Given the description of an element on the screen output the (x, y) to click on. 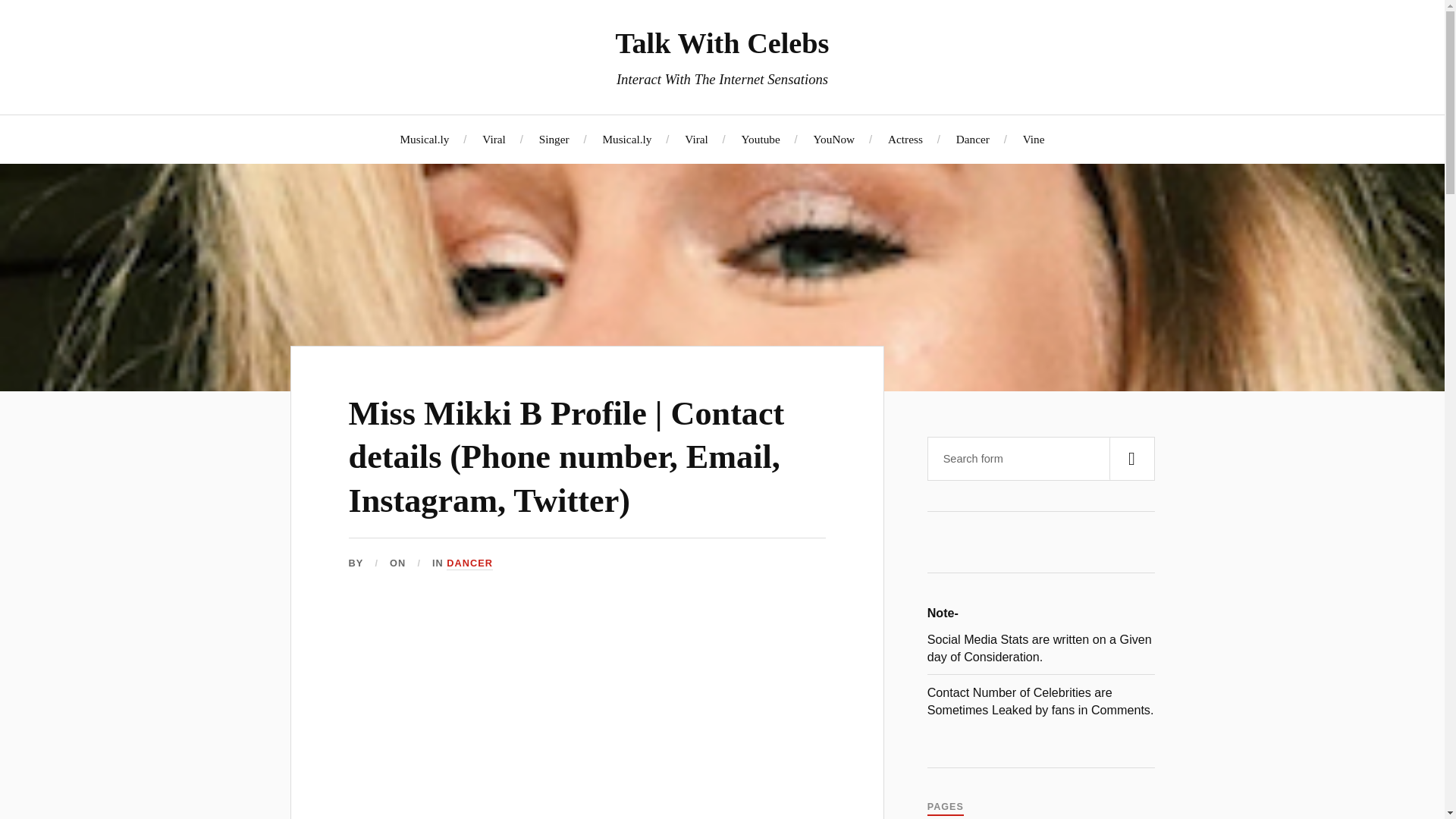
Advertisement (587, 714)
DANCER (469, 563)
Musical.ly (423, 138)
Talk With Celebs (721, 42)
Musical.ly (626, 138)
